Given the description of an element on the screen output the (x, y) to click on. 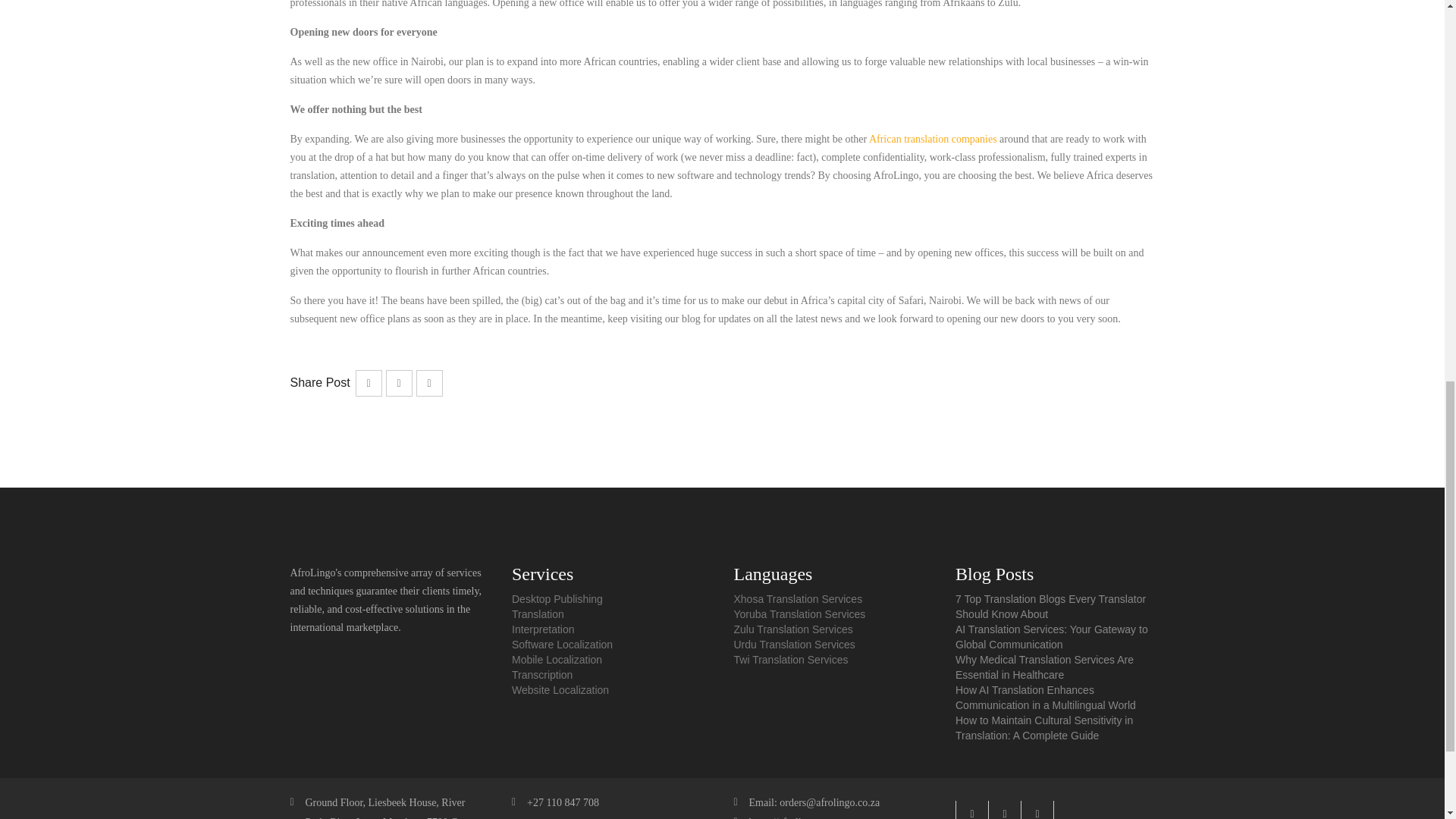
Twitter (971, 809)
Facebook (1004, 809)
Linkedin (1037, 809)
